Given the description of an element on the screen output the (x, y) to click on. 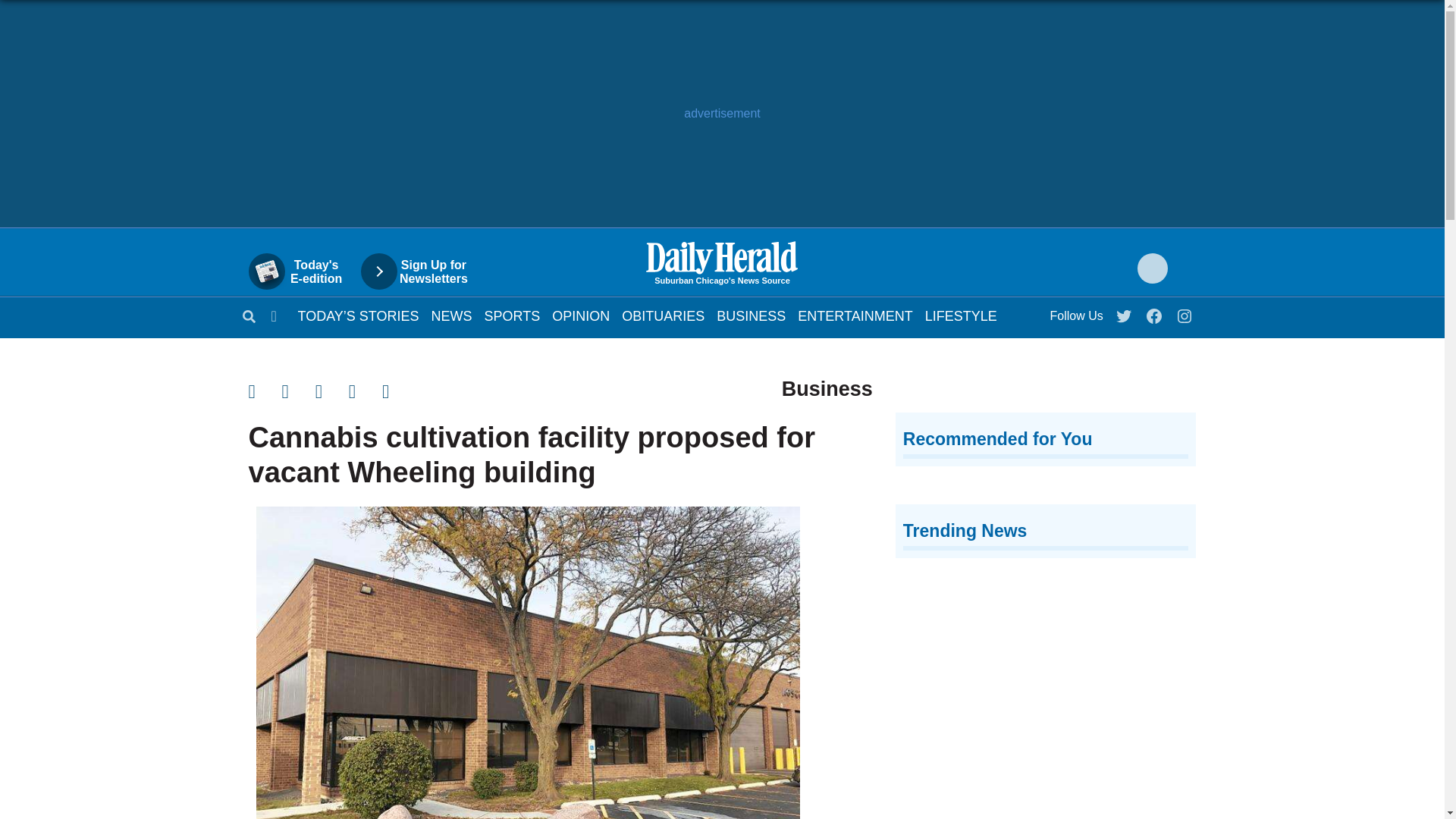
Obituaries (662, 315)
ENTERTAINMENT (303, 271)
Instagram (854, 315)
SPORTS (1184, 312)
LIFESTYLE (512, 315)
Entertainment (960, 315)
OBITUARIES (854, 315)
Lifestyle (662, 315)
Share via Email (960, 315)
